Given the description of an element on the screen output the (x, y) to click on. 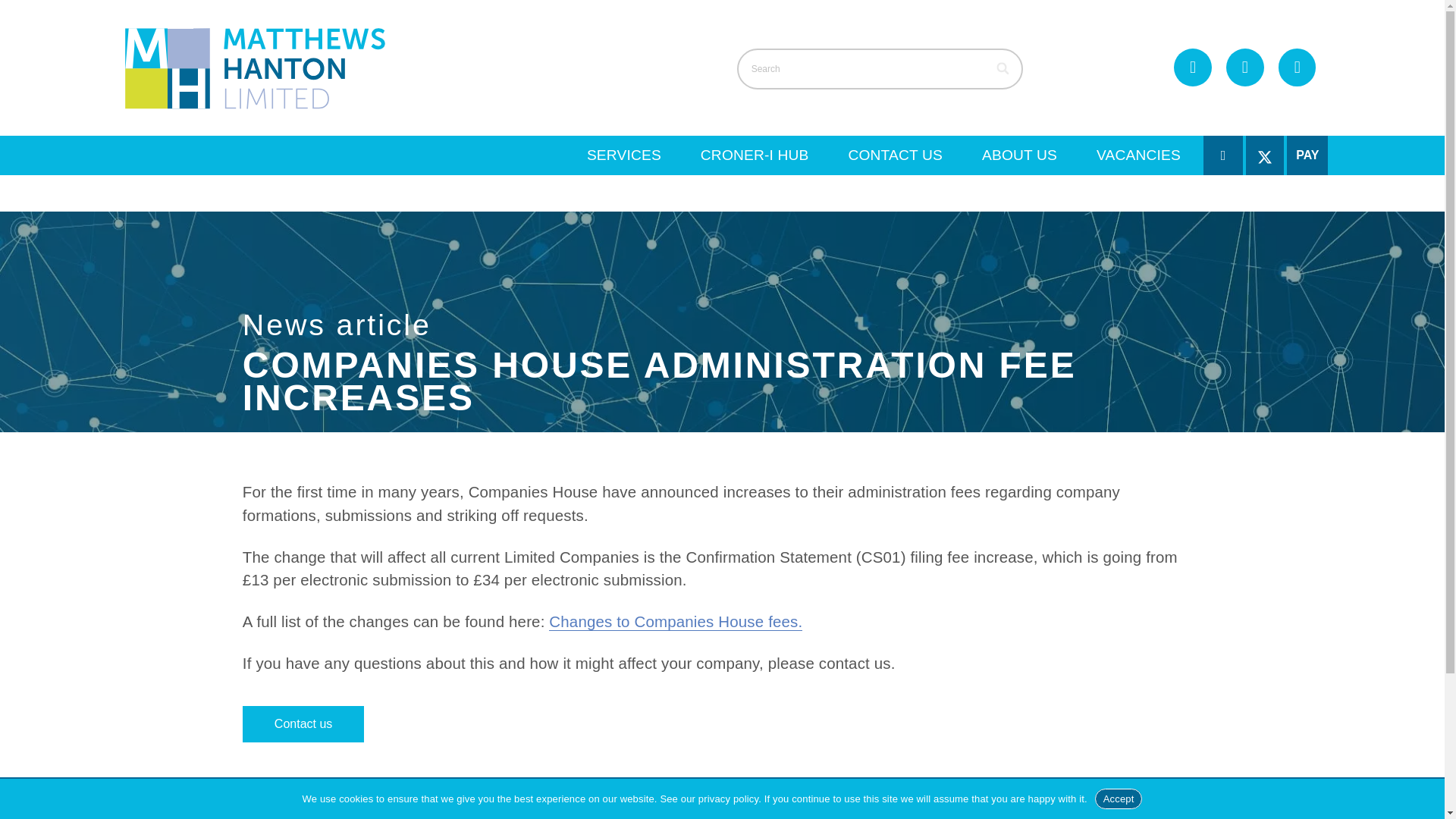
ABOUT US (1019, 155)
01243 861521 (1192, 67)
Matthews Hanton logo - landscape-01 (254, 67)
CRONER-I HUB (754, 155)
Changes to Companies House fees. (675, 621)
CONTACT US (895, 155)
VACANCIES (1138, 155)
Search (879, 68)
SERVICES (624, 155)
PAY (1307, 155)
xero-gold-partner-badge-RGB (1080, 809)
Email (1244, 67)
Location (1297, 67)
Quickbooks-logo-platinum-neg (1254, 809)
Contact us (303, 723)
